Given the description of an element on the screen output the (x, y) to click on. 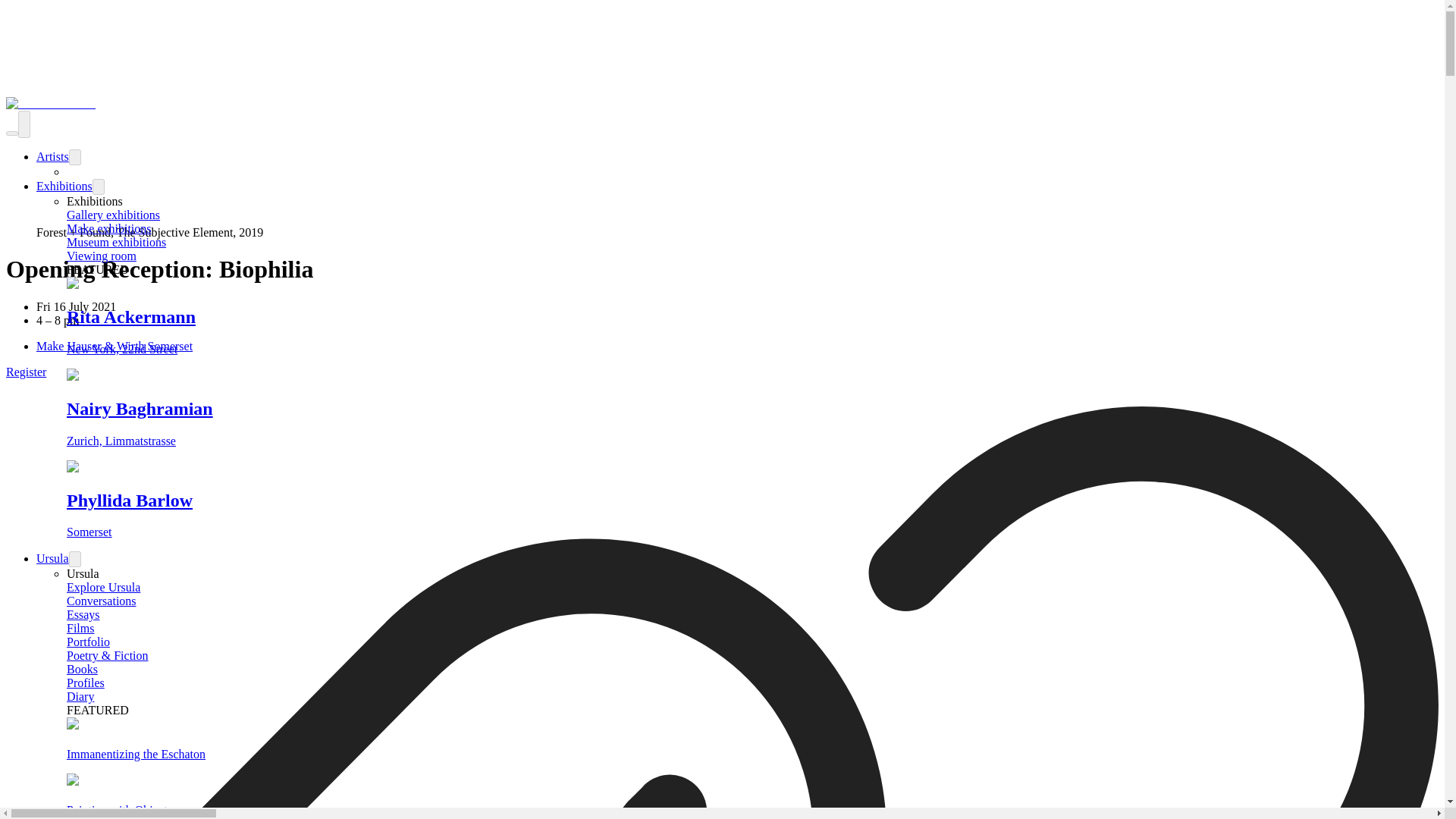
Exhibitions (64, 185)
Make exhibitions (108, 228)
Portfolio (88, 641)
Explore Ursula (102, 586)
Viewing room (101, 255)
Ursula (52, 558)
Museum exhibitions (115, 241)
Films (80, 627)
Nairy Baghramian (752, 408)
Gallery exhibitions (113, 214)
Artists (52, 155)
Conversations (101, 600)
Essays (83, 614)
